Given the description of an element on the screen output the (x, y) to click on. 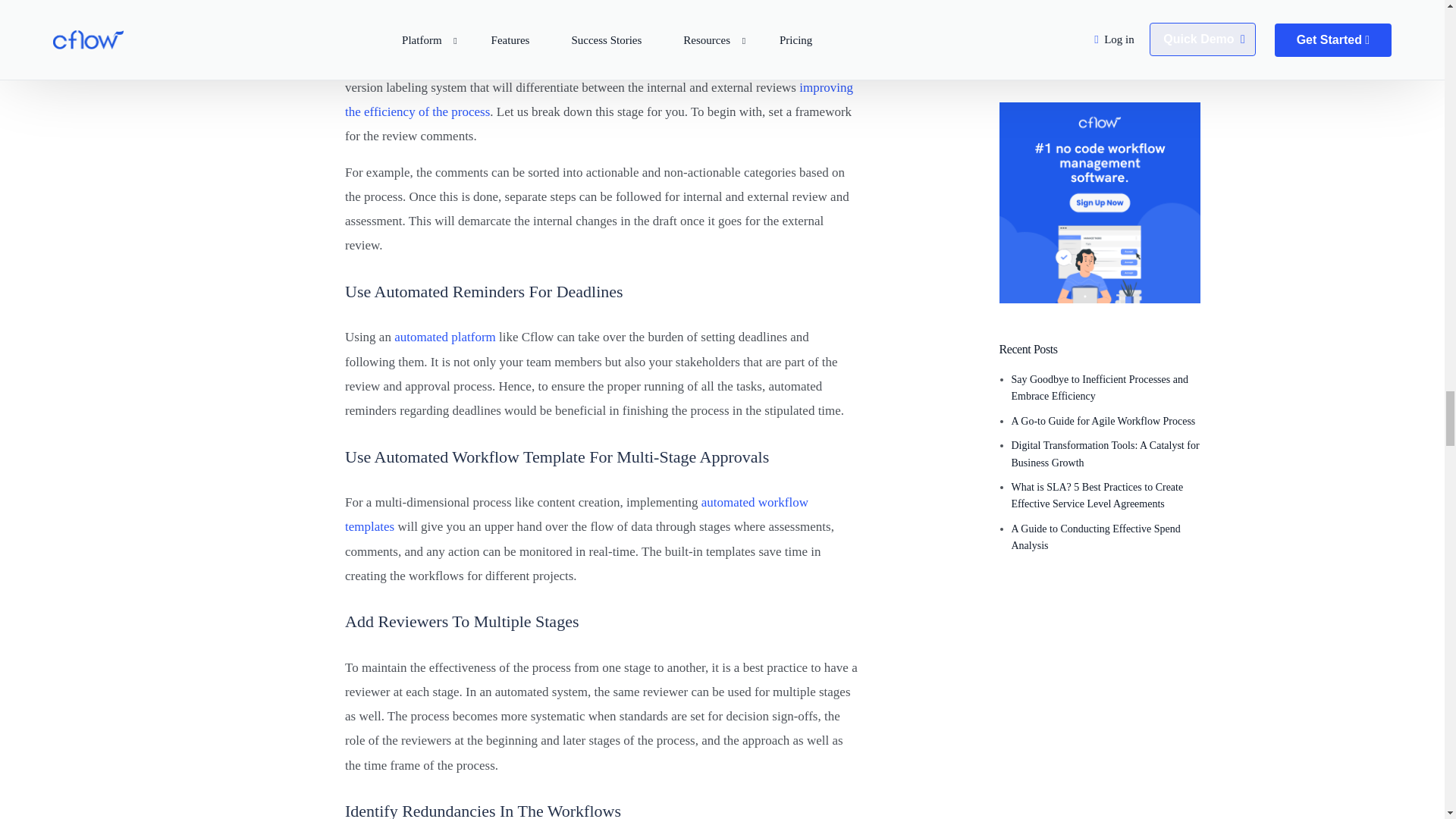
automated platform (445, 336)
automated workflow templates (576, 514)
improving the efficiency of the process (599, 99)
